Given the description of an element on the screen output the (x, y) to click on. 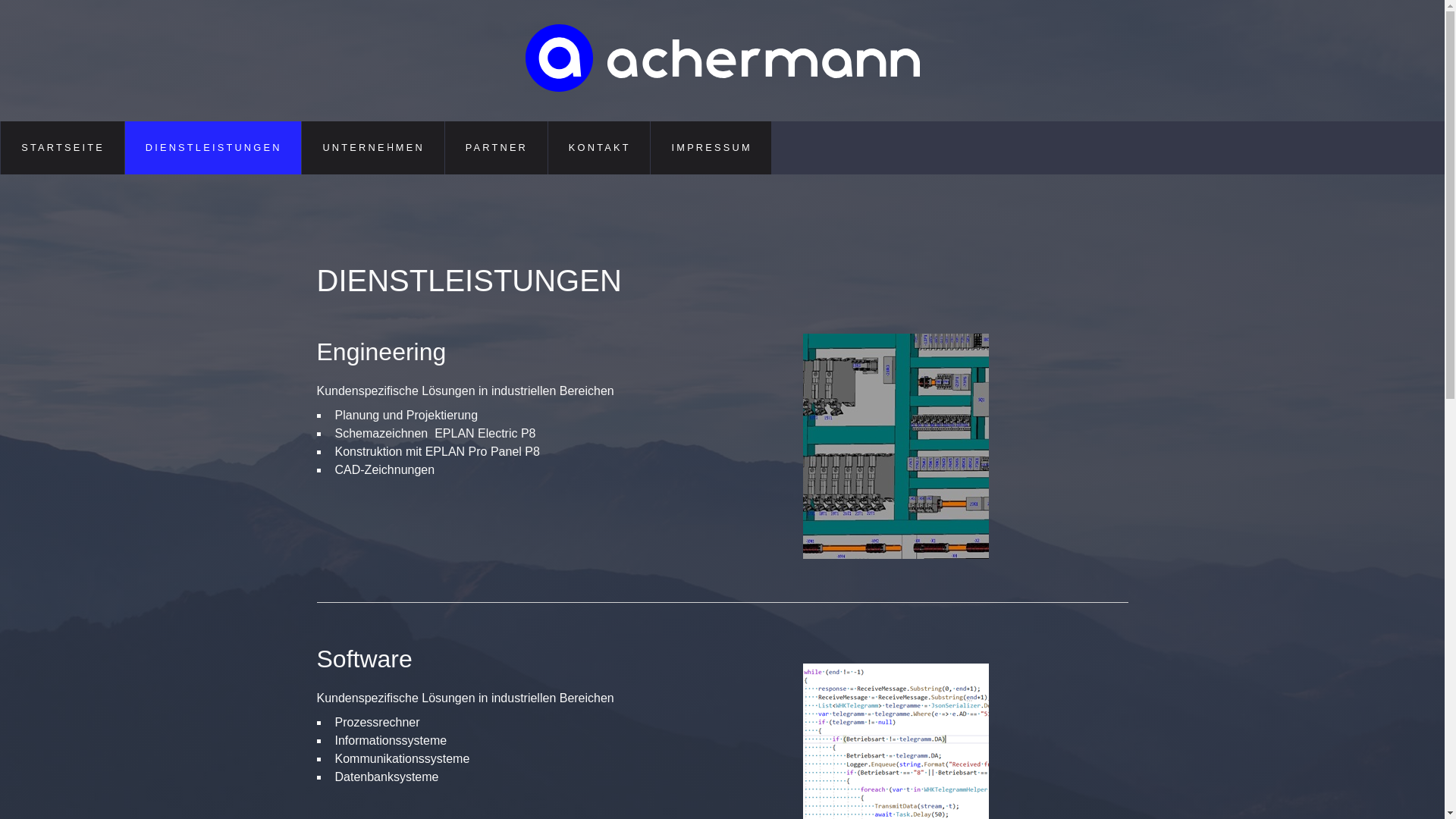
IMPRESSUM Element type: text (710, 147)
DIENSTLEISTUNGEN Element type: text (213, 147)
UNTERNEHMEN Element type: text (372, 147)
KONTAKT Element type: text (599, 147)
STARTSEITE Element type: text (62, 147)
PARTNER Element type: text (495, 147)
